Given the description of an element on the screen output the (x, y) to click on. 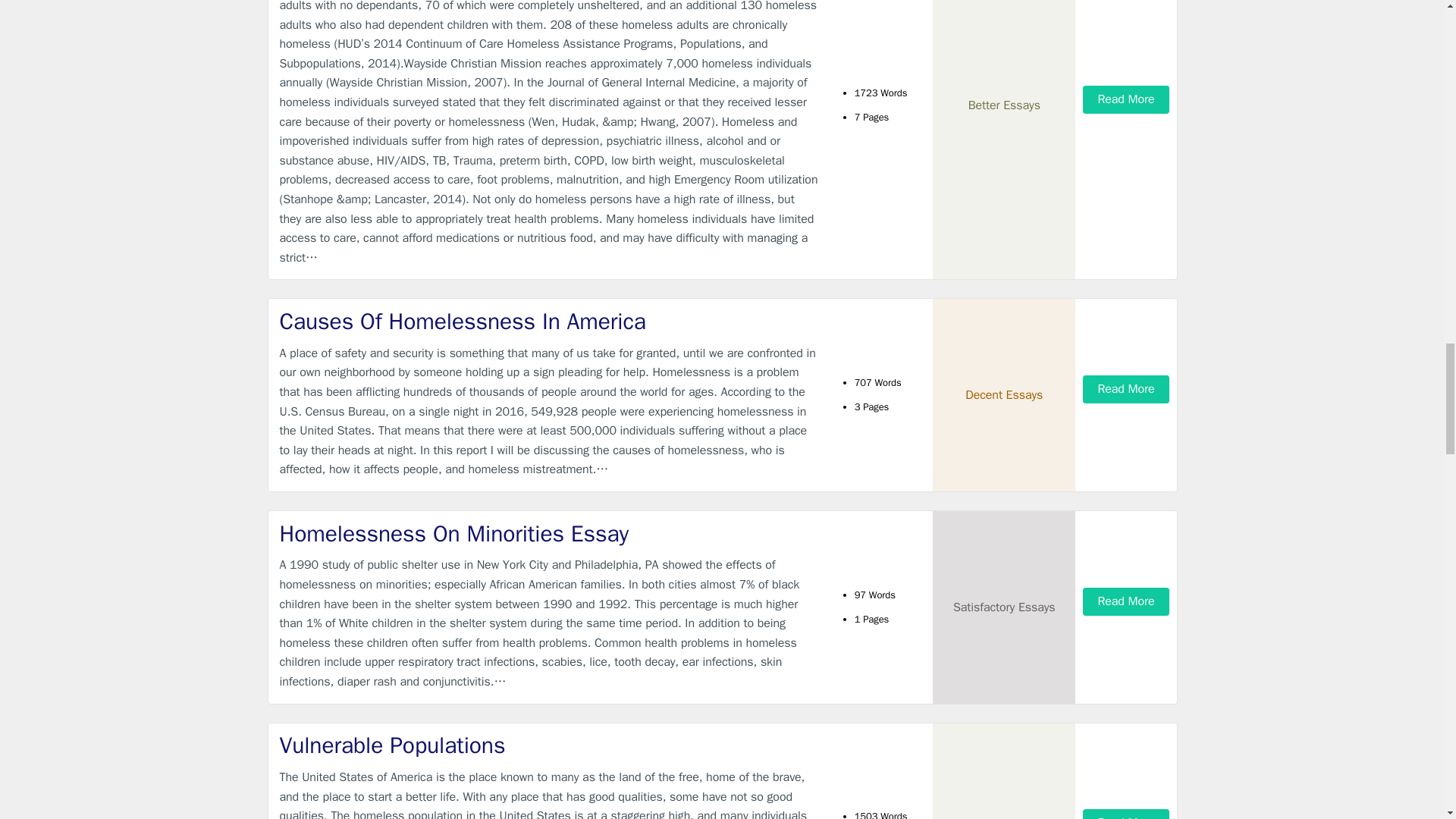
Read More (1126, 601)
Causes Of Homelessness In America (548, 321)
Vulnerable Populations (548, 745)
Homelessness On Minorities Essay (548, 533)
Read More (1126, 99)
Read More (1126, 814)
Read More (1126, 389)
